Given the description of an element on the screen output the (x, y) to click on. 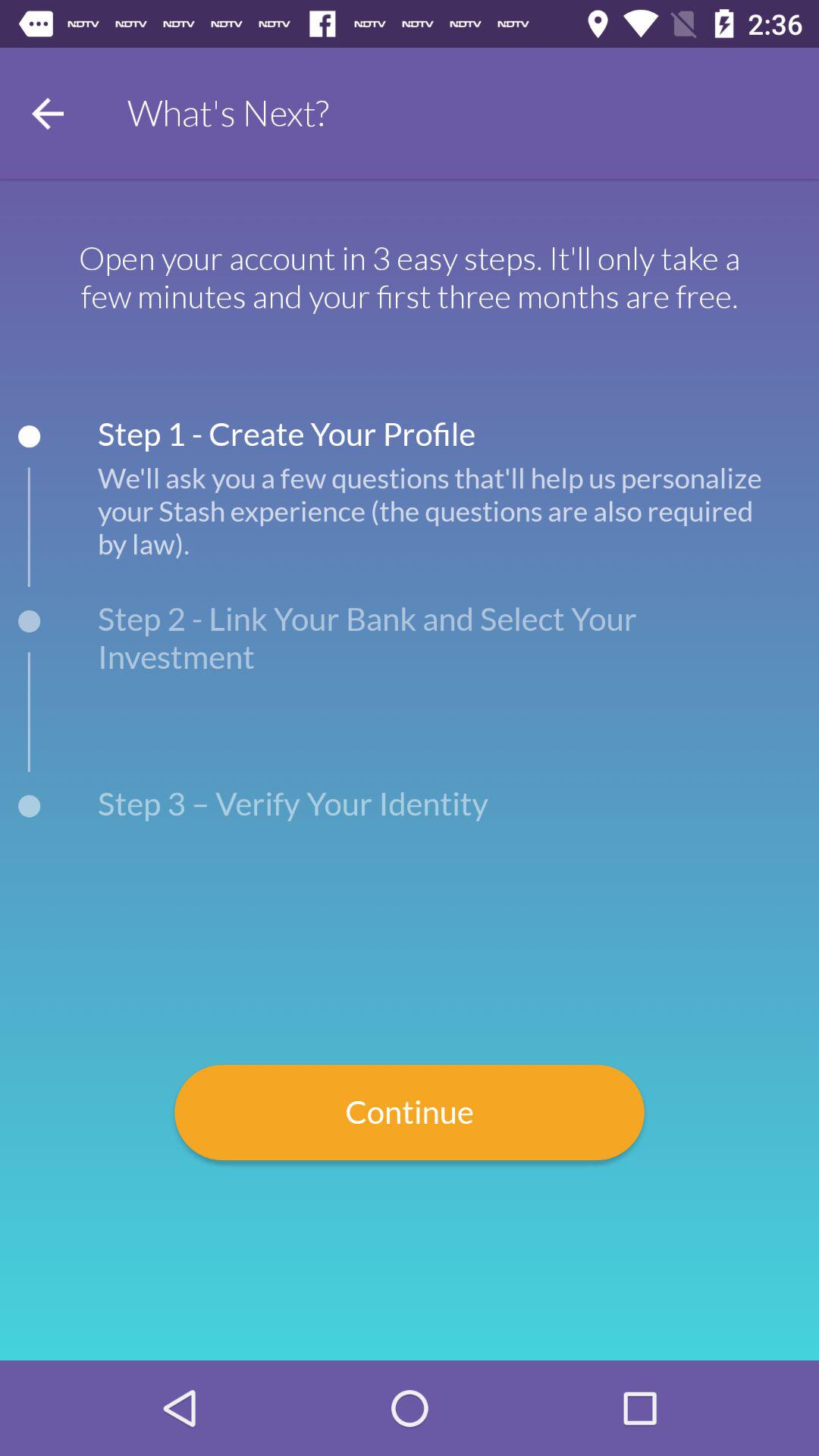
choose the continue icon (409, 1112)
